Given the description of an element on the screen output the (x, y) to click on. 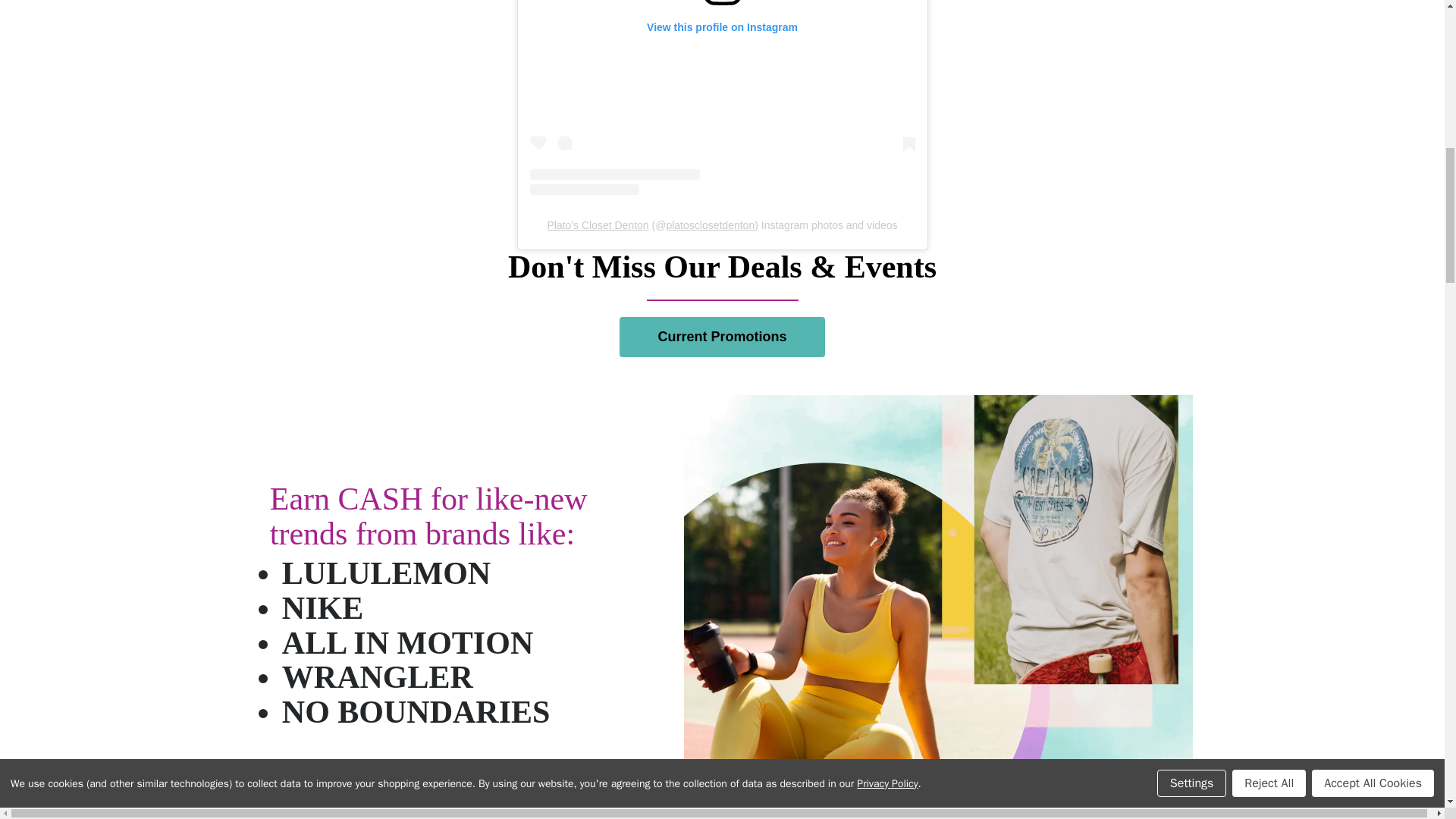
platosclosetdenton (709, 224)
Plato's Closet Denton (597, 224)
Current Promotions (722, 336)
View this profile on Instagram (721, 97)
